Given the description of an element on the screen output the (x, y) to click on. 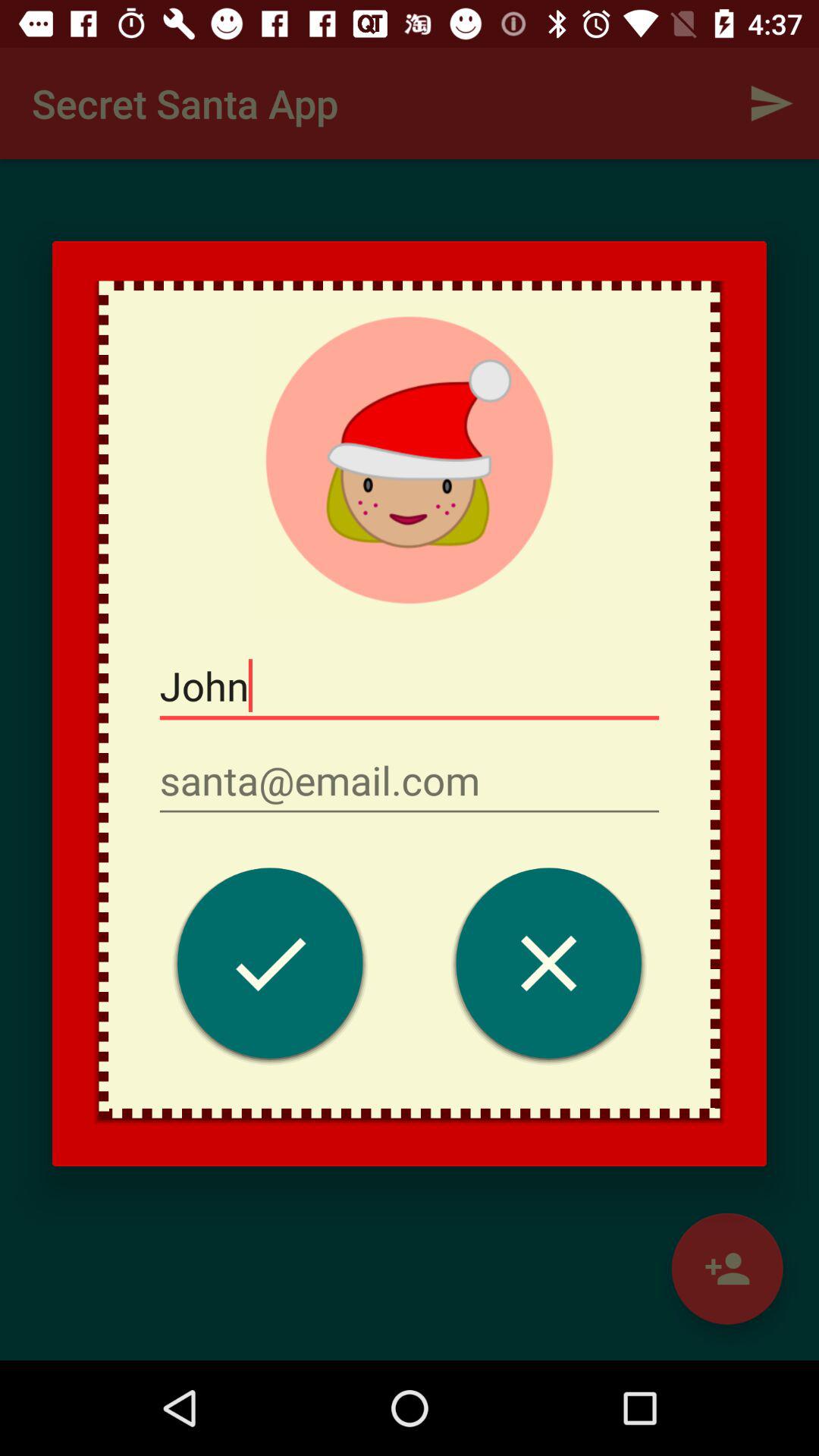
save (269, 966)
